Given the description of an element on the screen output the (x, y) to click on. 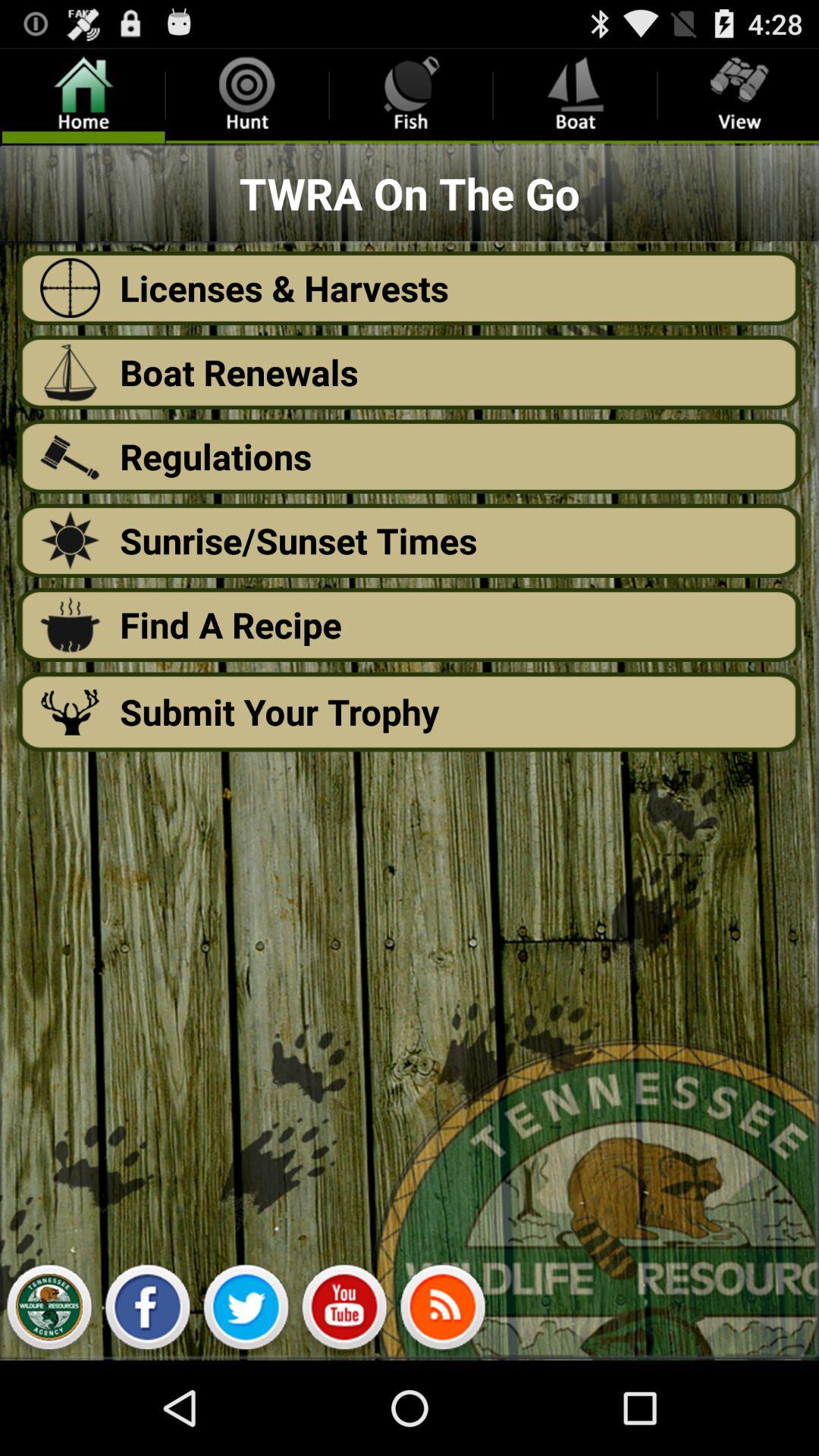
open the app below submit your trophy app (49, 1311)
